Given the description of an element on the screen output the (x, y) to click on. 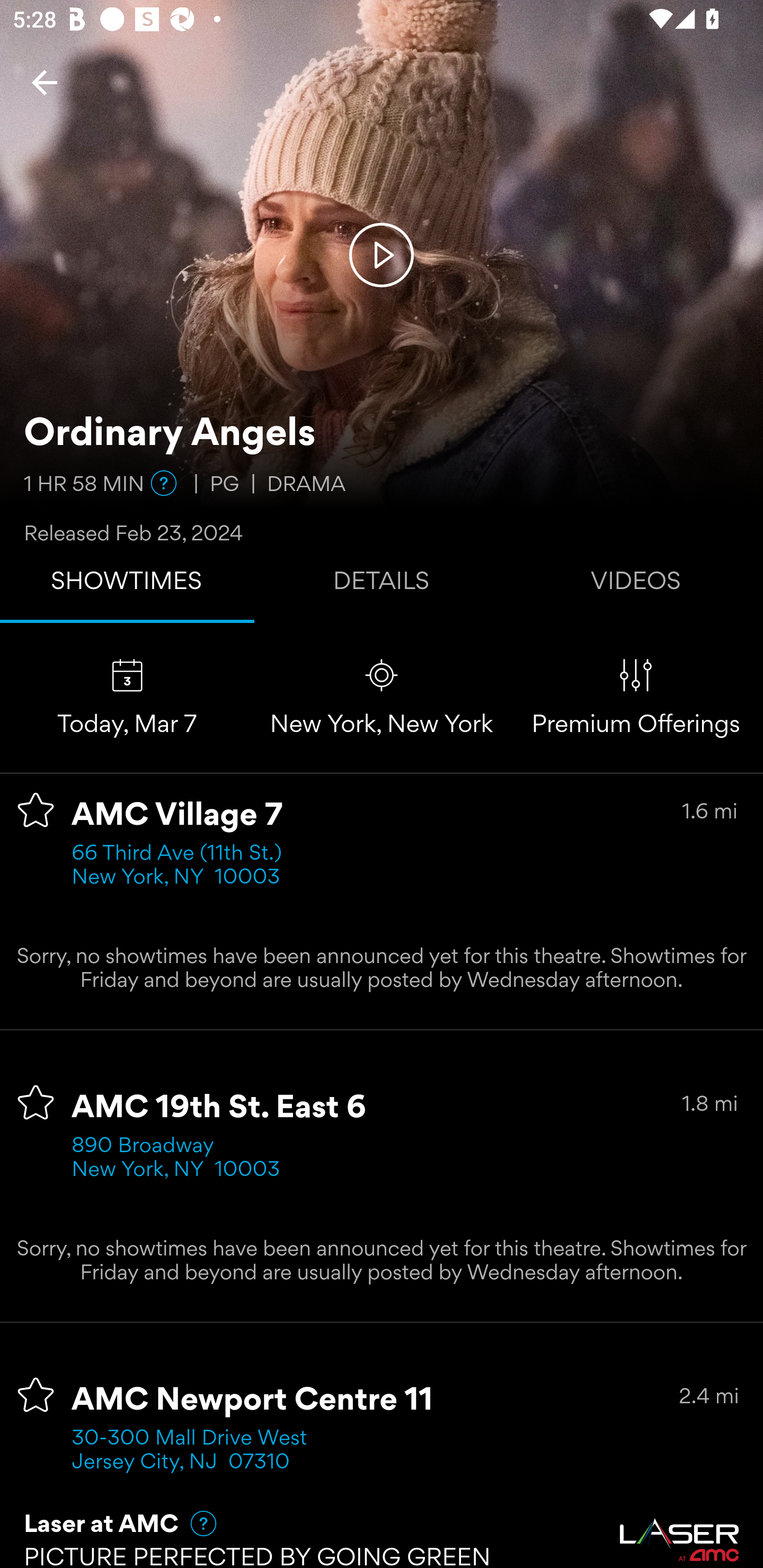
Back (44, 82)
Play (381, 254)
Help (163, 482)
SHOWTIMES
Tab 1 of 3 (127, 584)
DETAILS
Tab 2 of 3 (381, 584)
VIDEOS
Tab 3 of 3 (635, 584)
Change selected day
Today, Mar 7 (127, 697)
Change location
New York, New York (381, 697)
Premium Offerings
Premium Offerings (635, 697)
AMC Village 7 (177, 816)
66 Third Ave (11th St.)  
New York, NY  10003 (182, 866)
AMC 19th St. East 6 (219, 1108)
890 Broadway  
New York, NY  10003 (176, 1158)
AMC Newport Centre 11 (252, 1400)
30-300 Mall Drive West  
Jersey City, NJ  07310 (195, 1450)
Help (195, 1522)
